Given the description of an element on the screen output the (x, y) to click on. 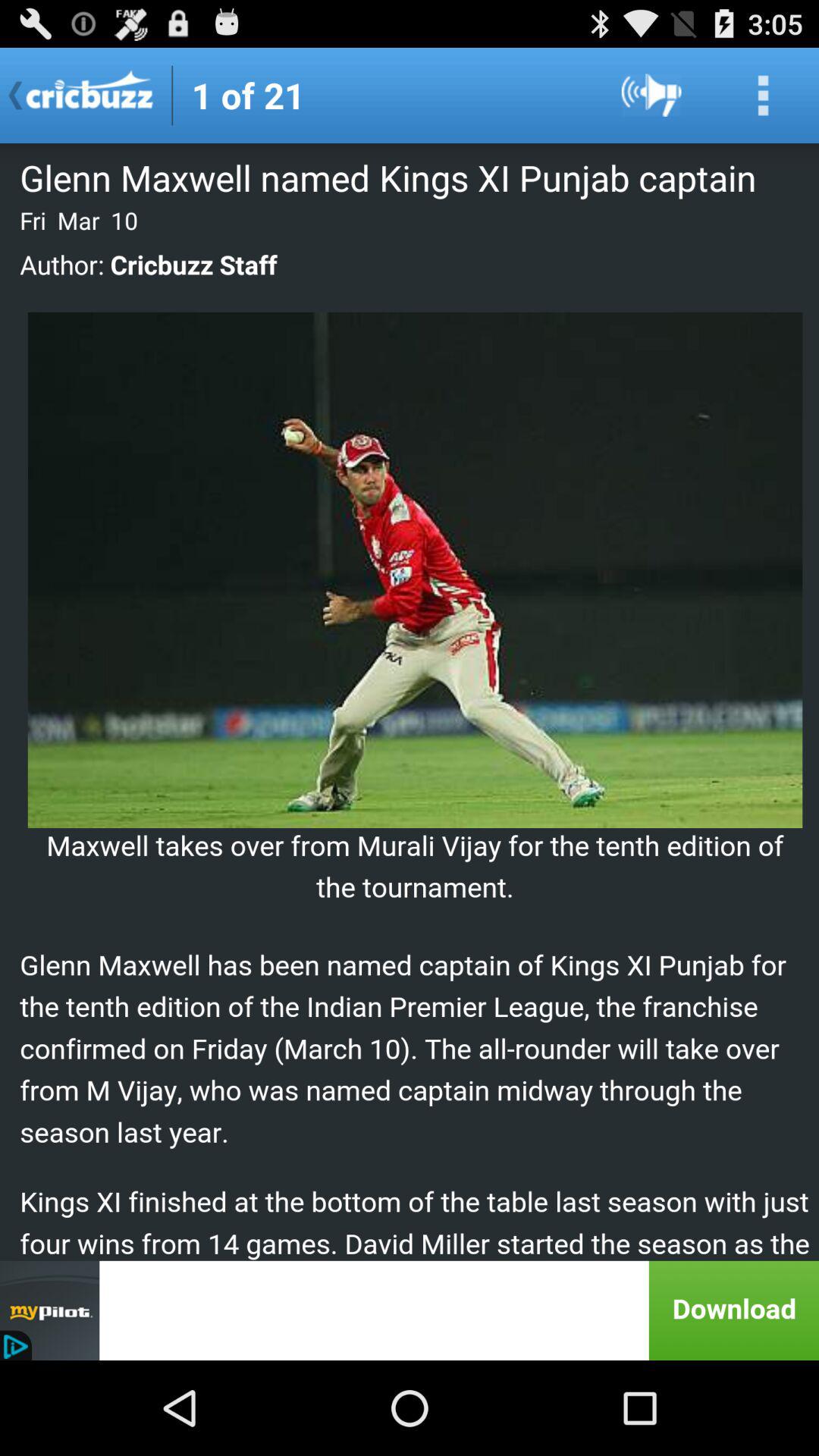
seach (763, 95)
